Given the description of an element on the screen output the (x, y) to click on. 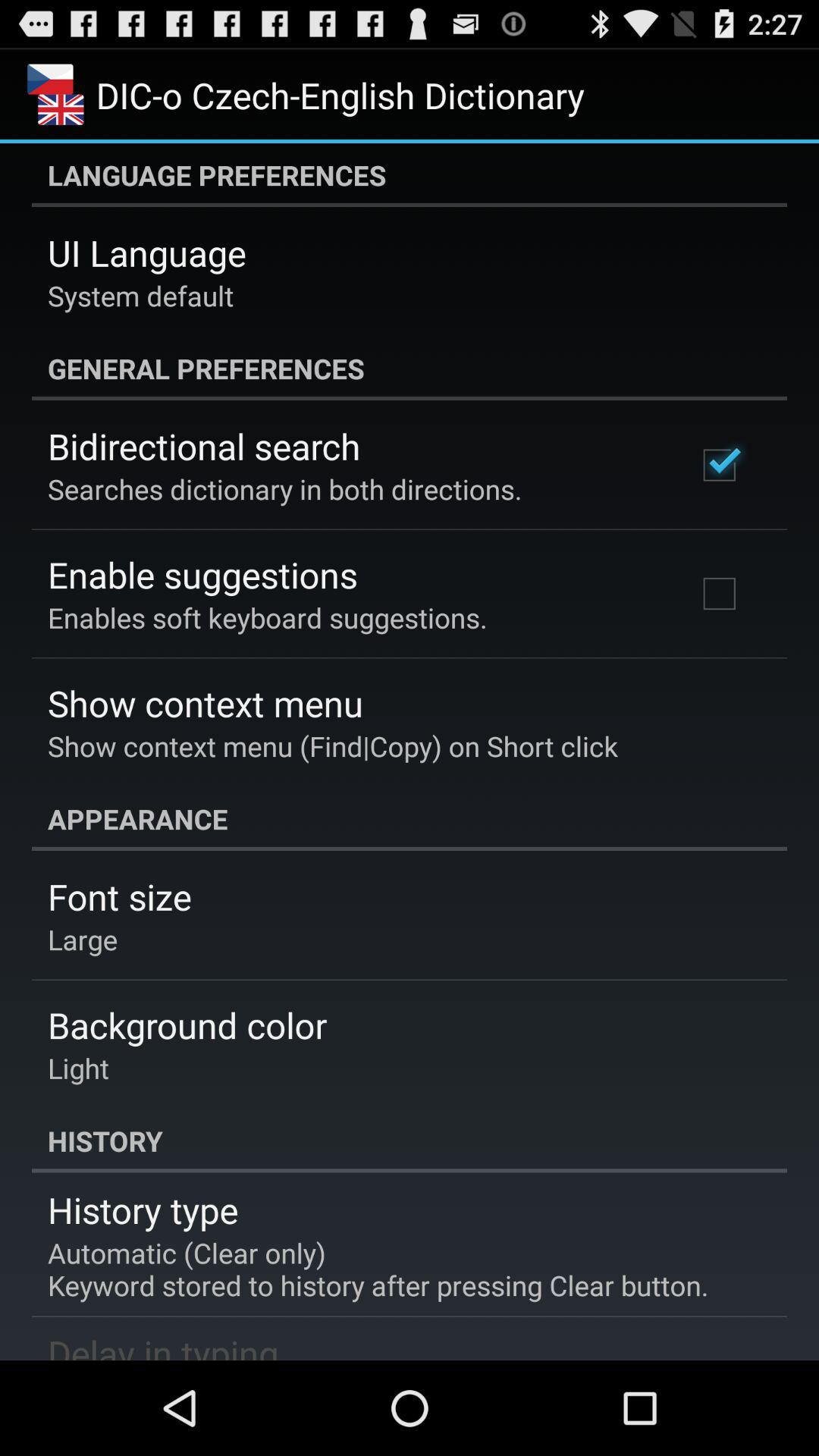
select language preferences icon (409, 175)
